Given the description of an element on the screen output the (x, y) to click on. 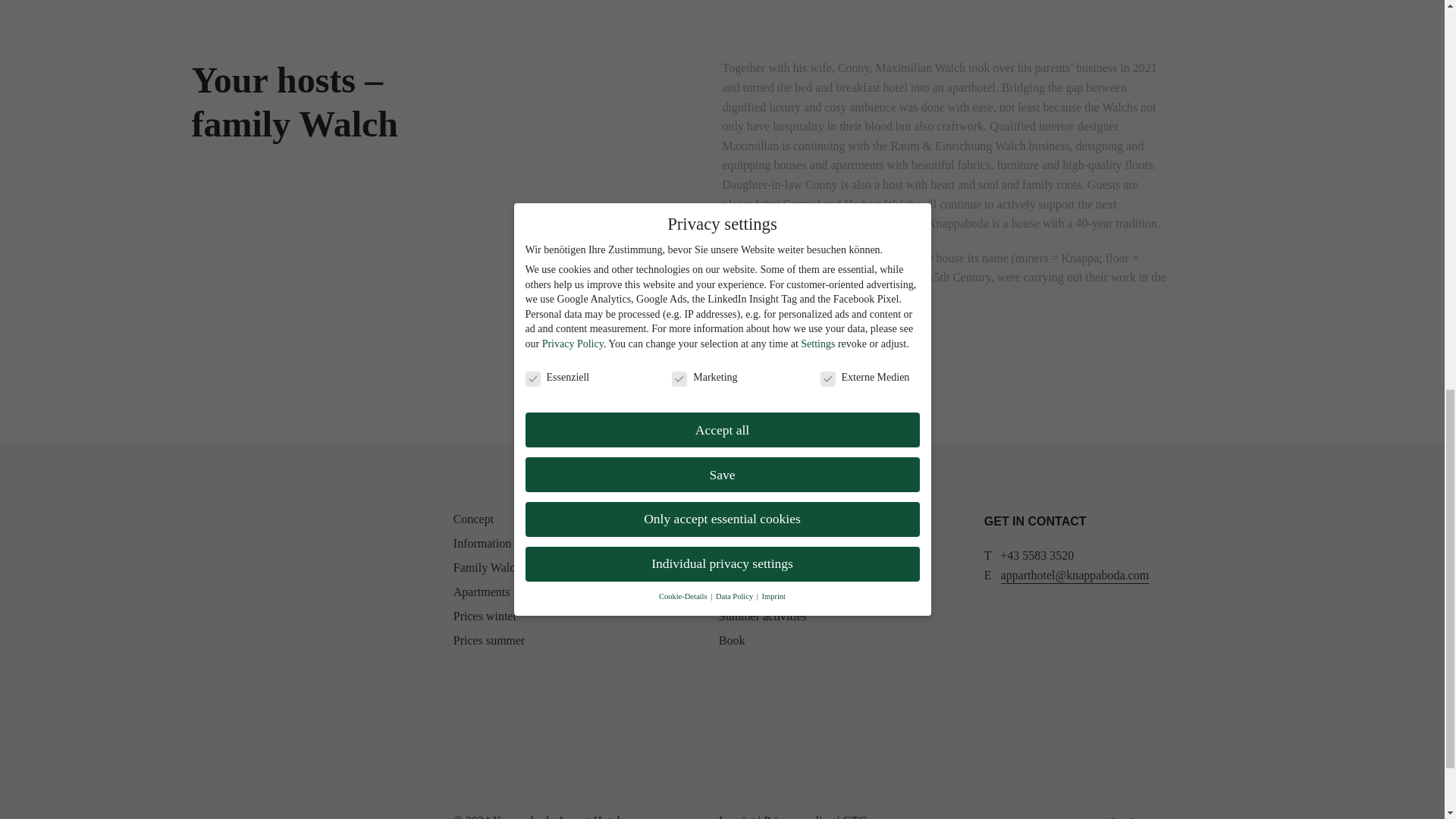
Knappaboda-Appart-Hotel (266, 549)
